Given the description of an element on the screen output the (x, y) to click on. 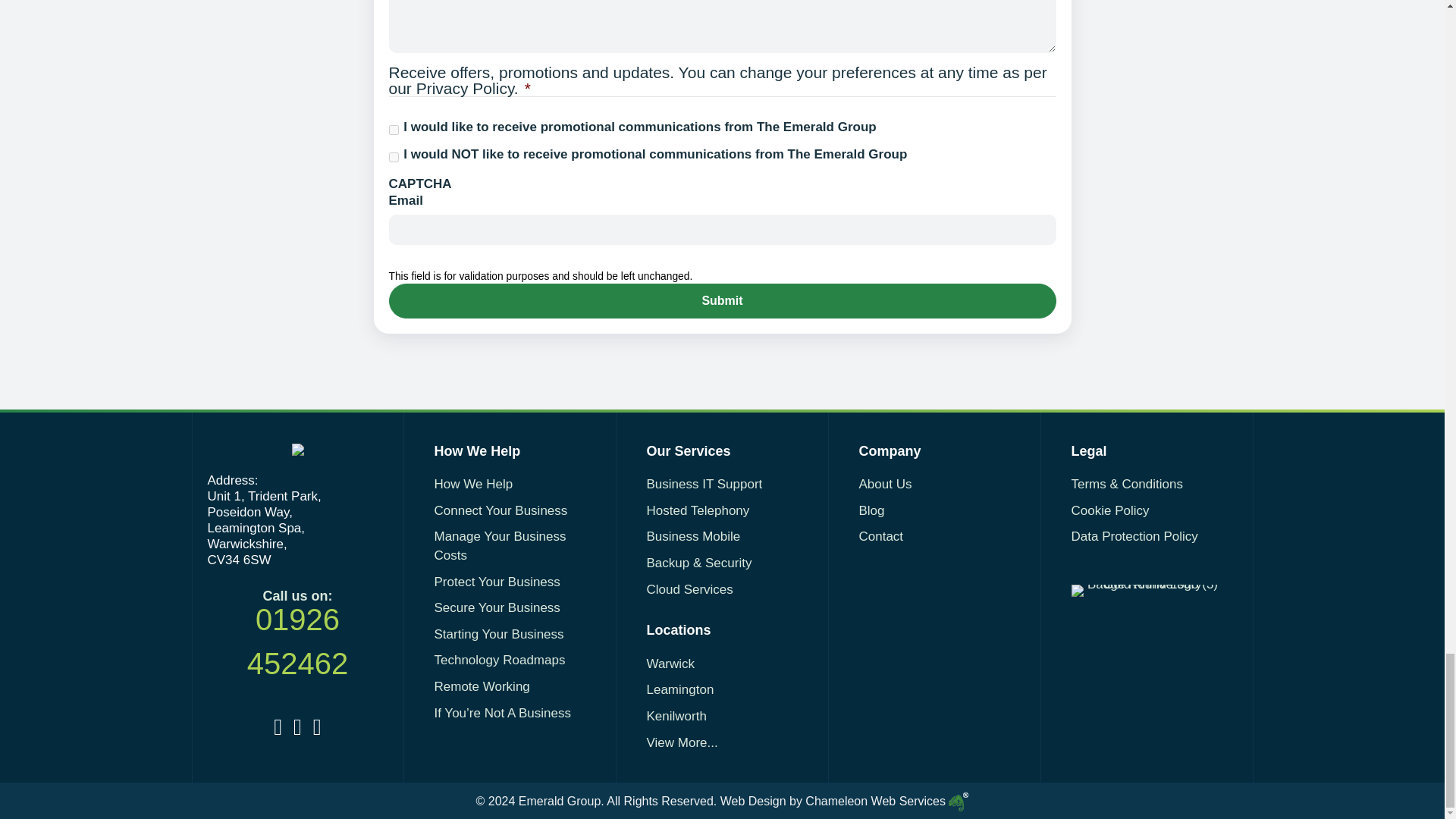
Submit (721, 300)
Web Design Company (844, 800)
